Given the description of an element on the screen output the (x, y) to click on. 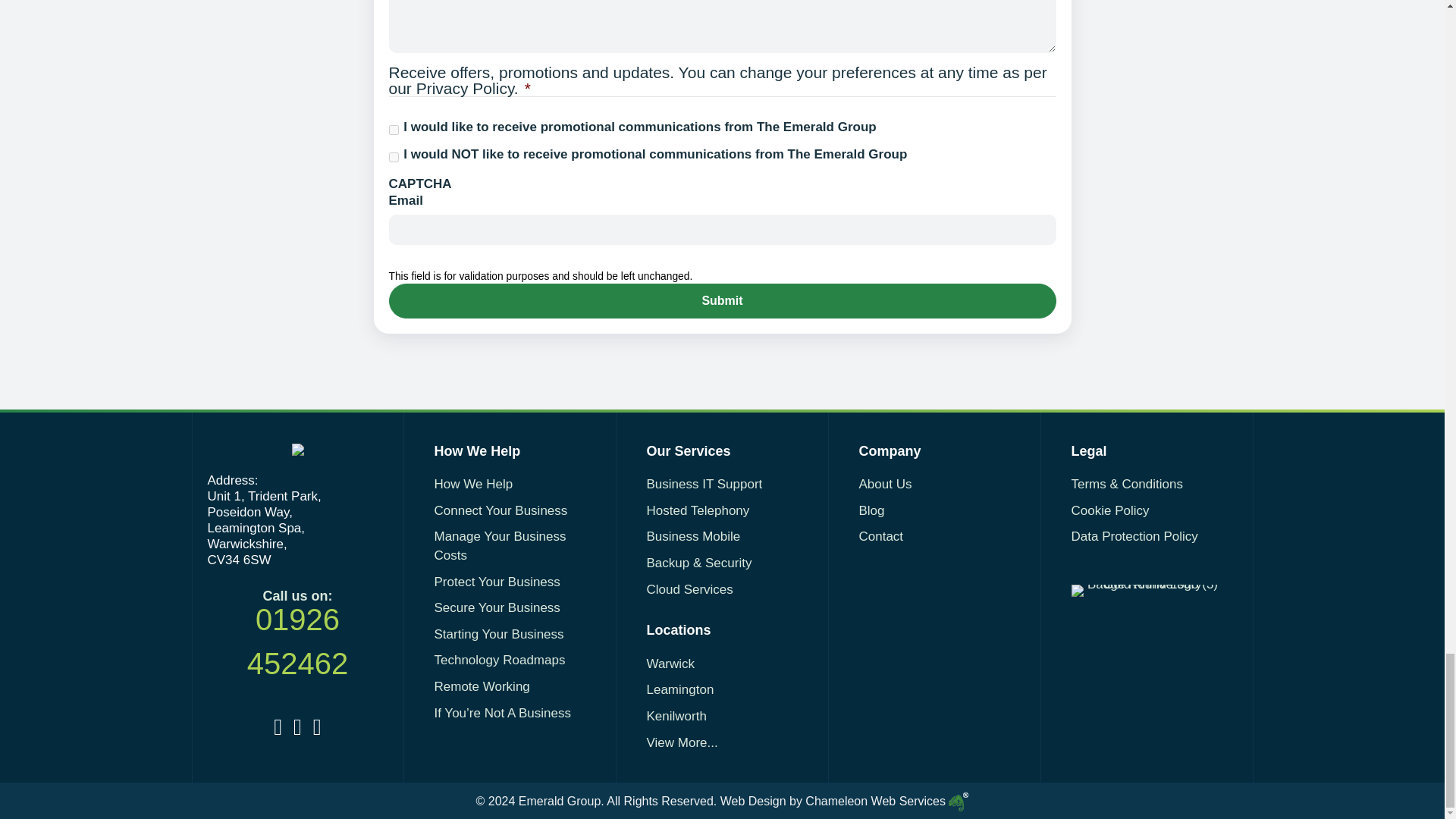
Submit (721, 300)
Web Design Company (844, 800)
